Given the description of an element on the screen output the (x, y) to click on. 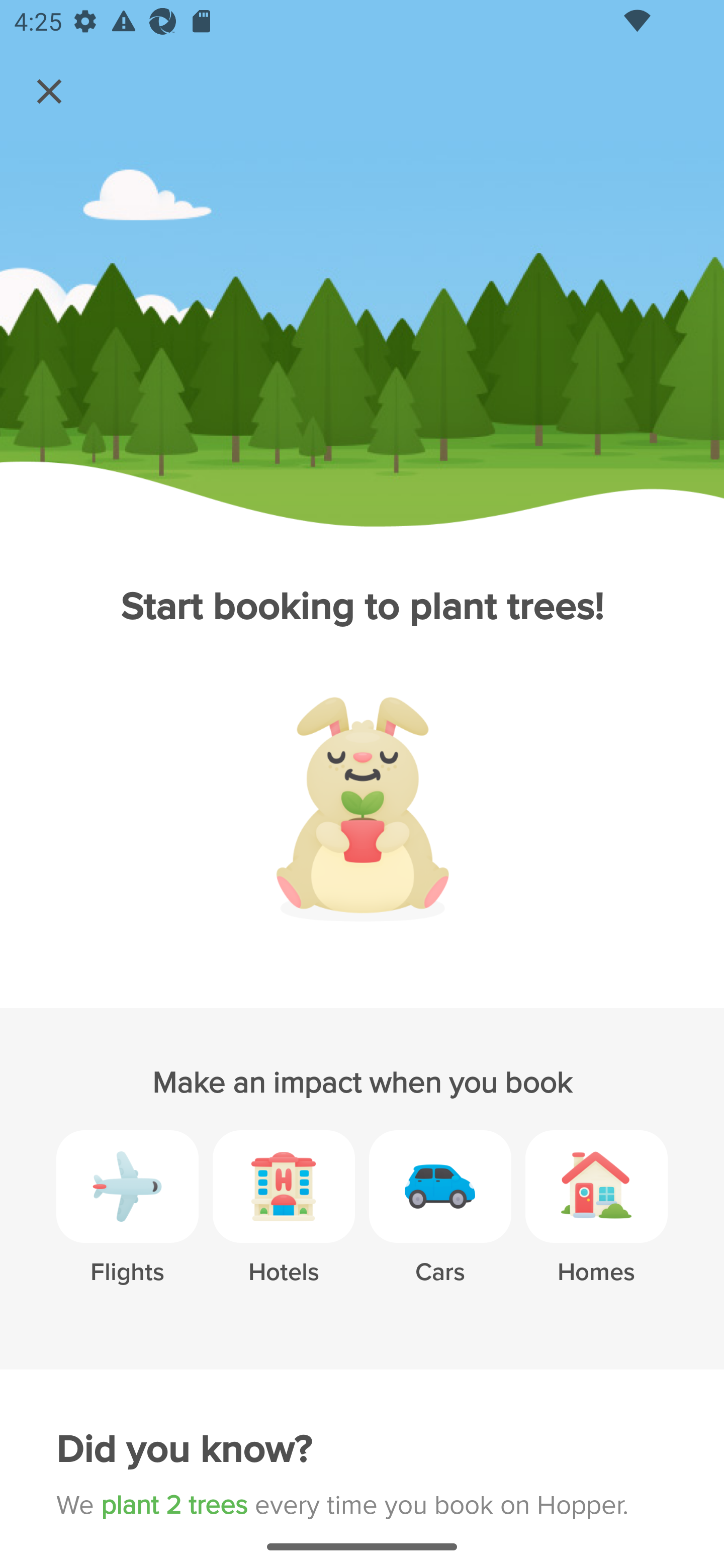
Navigate up (49, 91)
Flights (127, 1221)
Hotels (283, 1221)
Cars (440, 1221)
Homes (596, 1221)
